Given the description of an element on the screen output the (x, y) to click on. 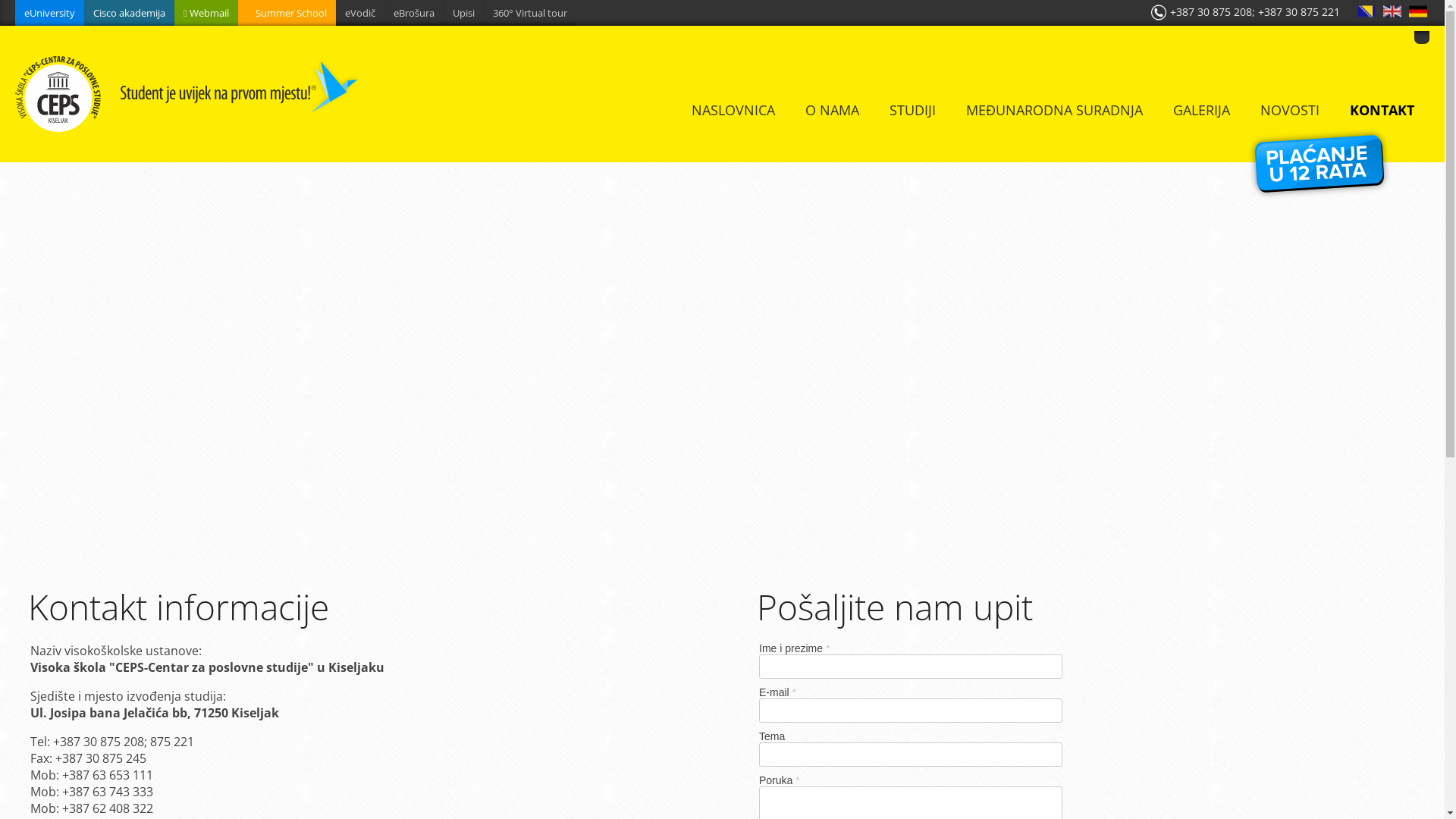
eUniversity Element type: text (49, 12)
O NAMA Element type: text (832, 109)
GALERIJA Element type: text (1201, 109)
NASLOVNICA Element type: text (733, 109)
NOVOSTI Element type: text (1289, 109)
STUDIJI Element type: text (912, 109)
Cisco akademija Element type: text (129, 12)
KONTAKT Element type: text (1381, 109)
Upisi Element type: text (463, 12)
